Given the description of an element on the screen output the (x, y) to click on. 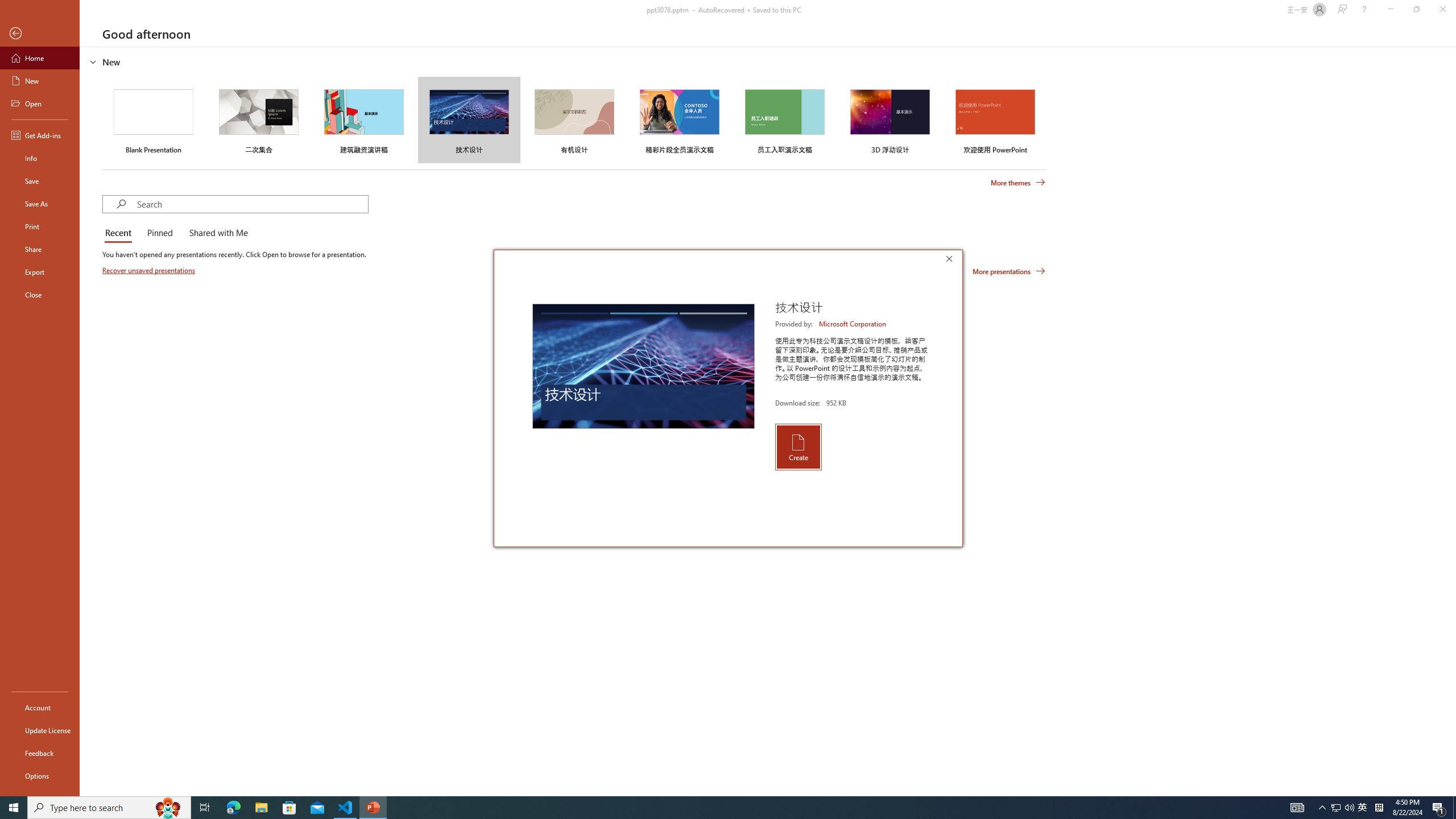
Info (40, 157)
Microsoft Corporation (853, 323)
Feedback (40, 753)
Recover unsaved presentations (149, 270)
